Given the description of an element on the screen output the (x, y) to click on. 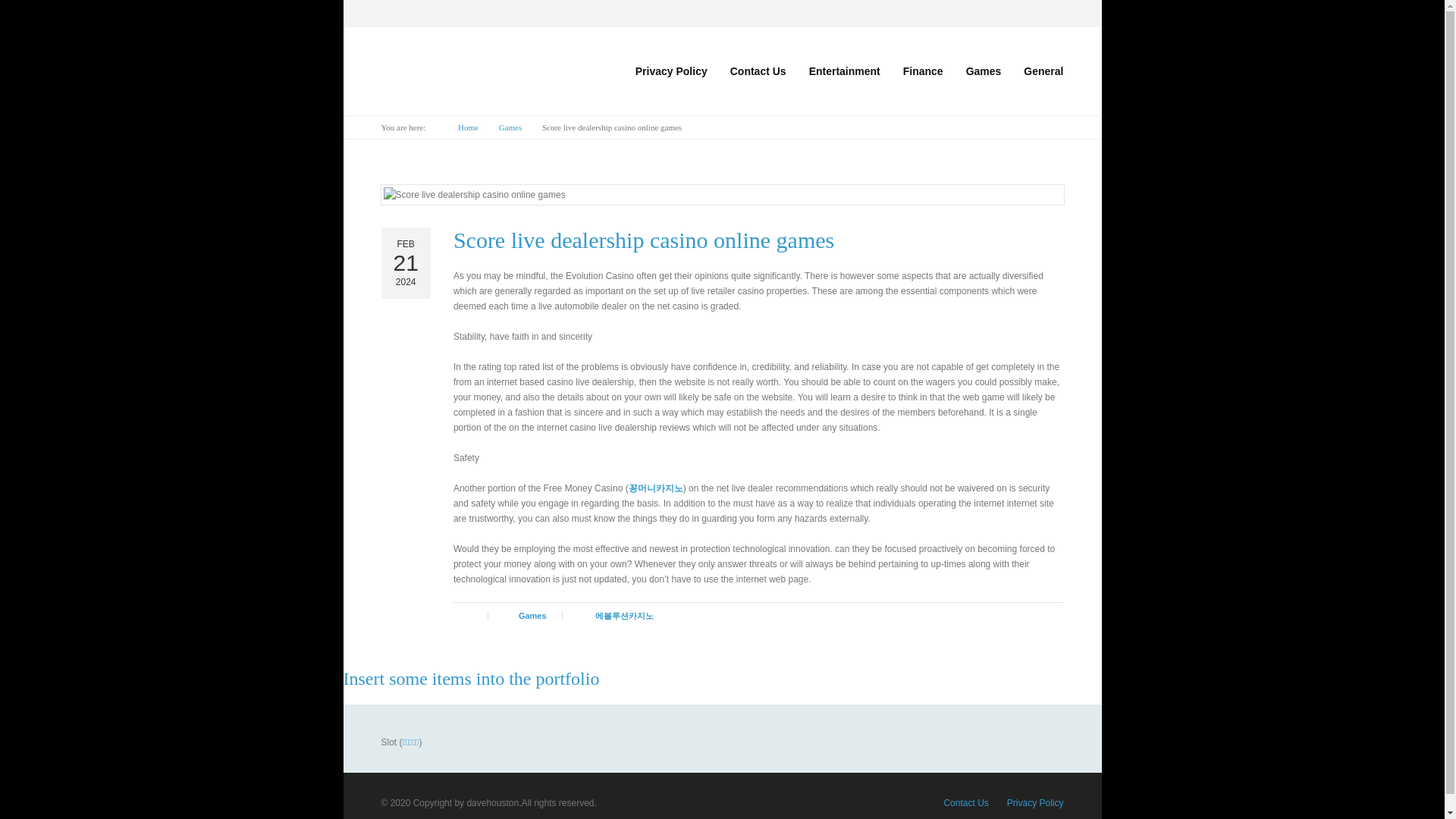
Finance (923, 71)
Home (467, 127)
Privacy Policy (671, 71)
Contact Us (758, 71)
Score live dealership casino online games (643, 239)
Permalink to Score live dealership casino online games (643, 239)
Contact Us (965, 802)
Games (540, 614)
Games (984, 71)
General (1036, 71)
